Given the description of an element on the screen output the (x, y) to click on. 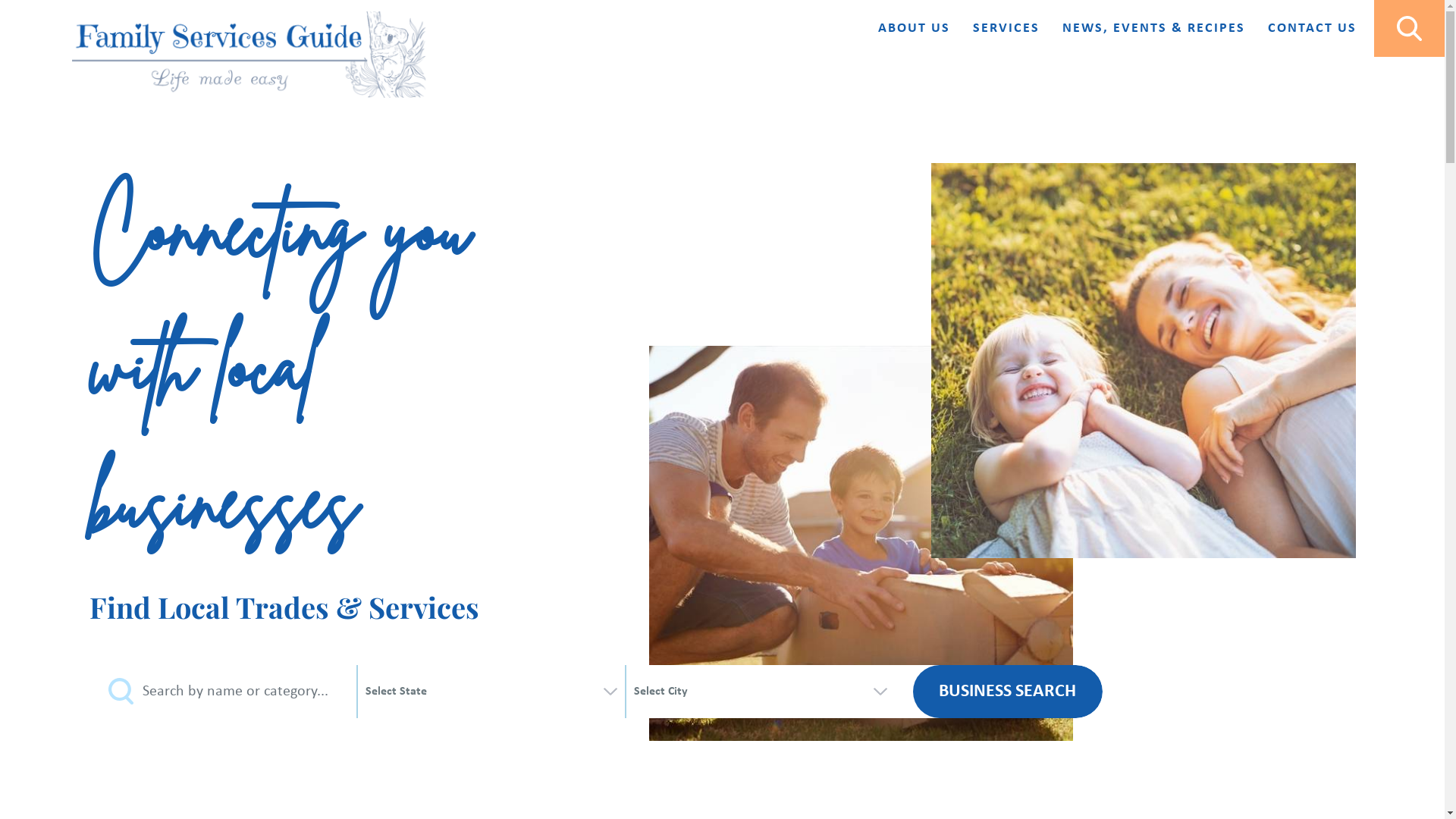
NEWS, EVENTS & RECIPES Element type: text (1153, 28)
SERVICES Element type: text (1006, 28)
CONTACT US Element type: text (1312, 28)
ABOUT US Element type: text (914, 28)
Business search Element type: text (1007, 691)
